Given the description of an element on the screen output the (x, y) to click on. 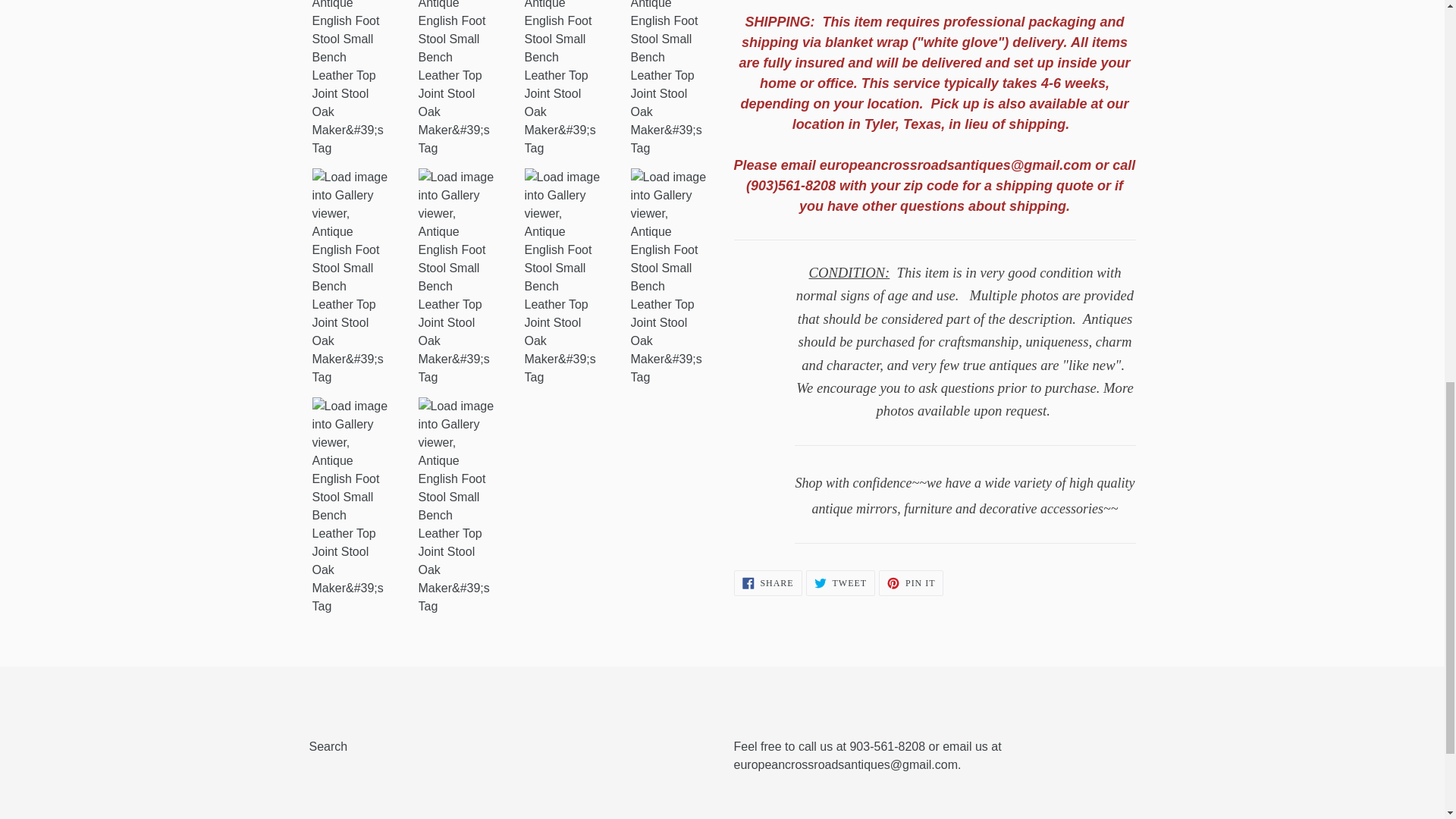
Search (911, 583)
